Given the description of an element on the screen output the (x, y) to click on. 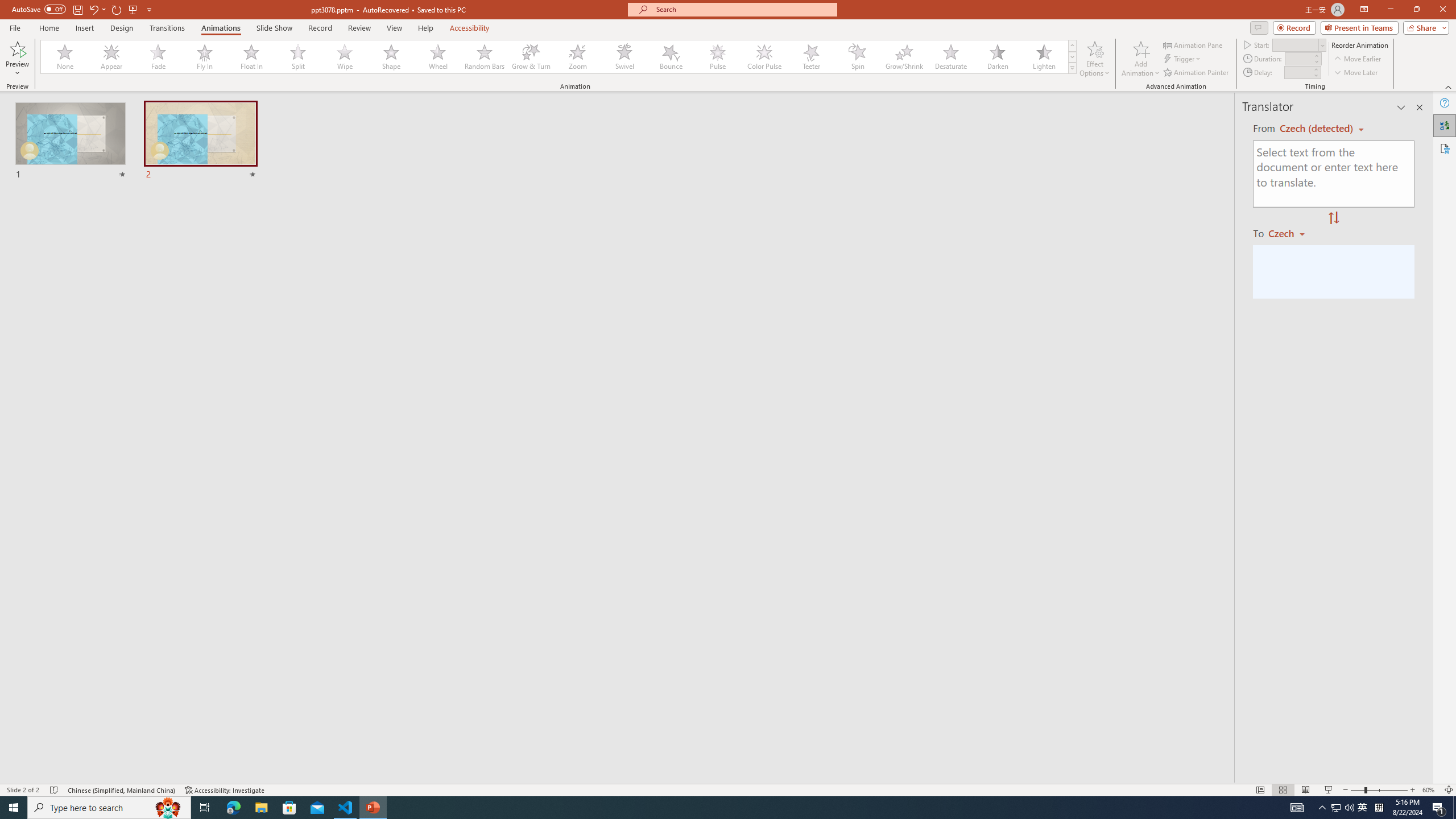
Bounce (670, 56)
Color Pulse (764, 56)
Split (298, 56)
Czech (detected) (1317, 128)
